Given the description of an element on the screen output the (x, y) to click on. 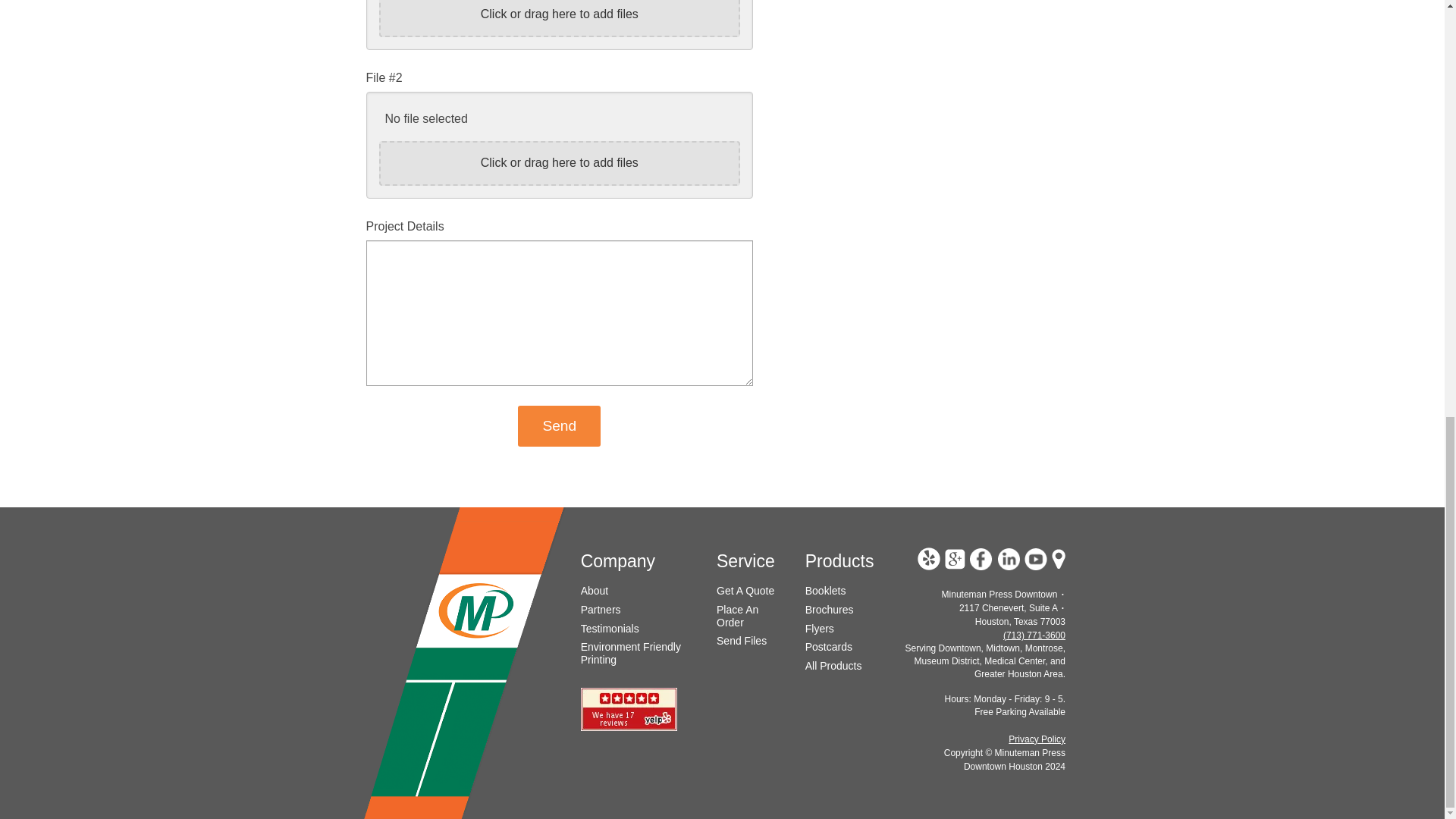
Send (558, 425)
